Given the description of an element on the screen output the (x, y) to click on. 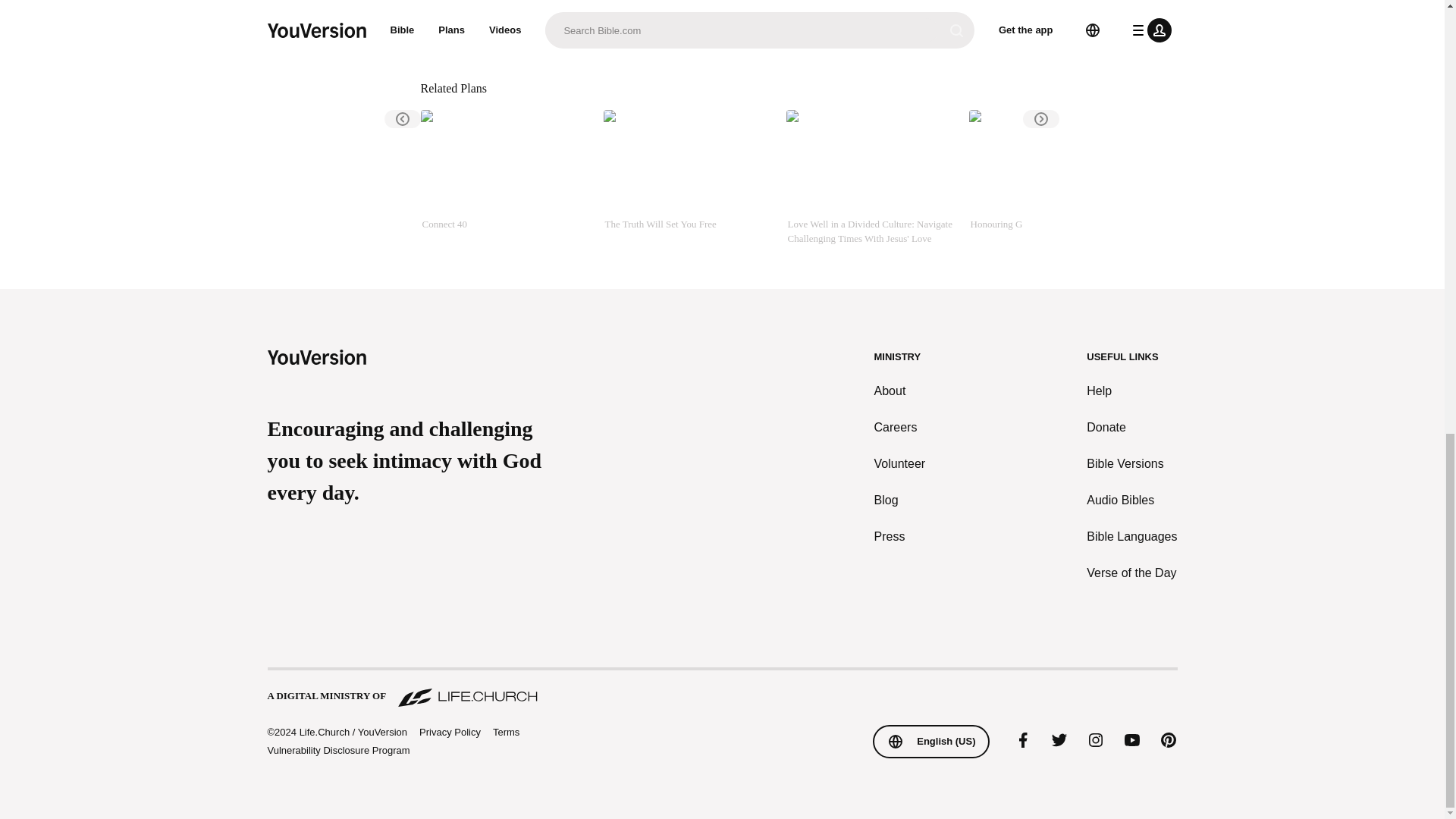
Terms (506, 731)
Careers (900, 427)
Donate (1131, 427)
The Truth Will Set You Free (689, 177)
Audio Bibles (1131, 500)
Vulnerability Disclosure Program (337, 749)
Honouring God With Our Finances (1054, 177)
About (900, 391)
Privacy Policy (449, 732)
